Given the description of an element on the screen output the (x, y) to click on. 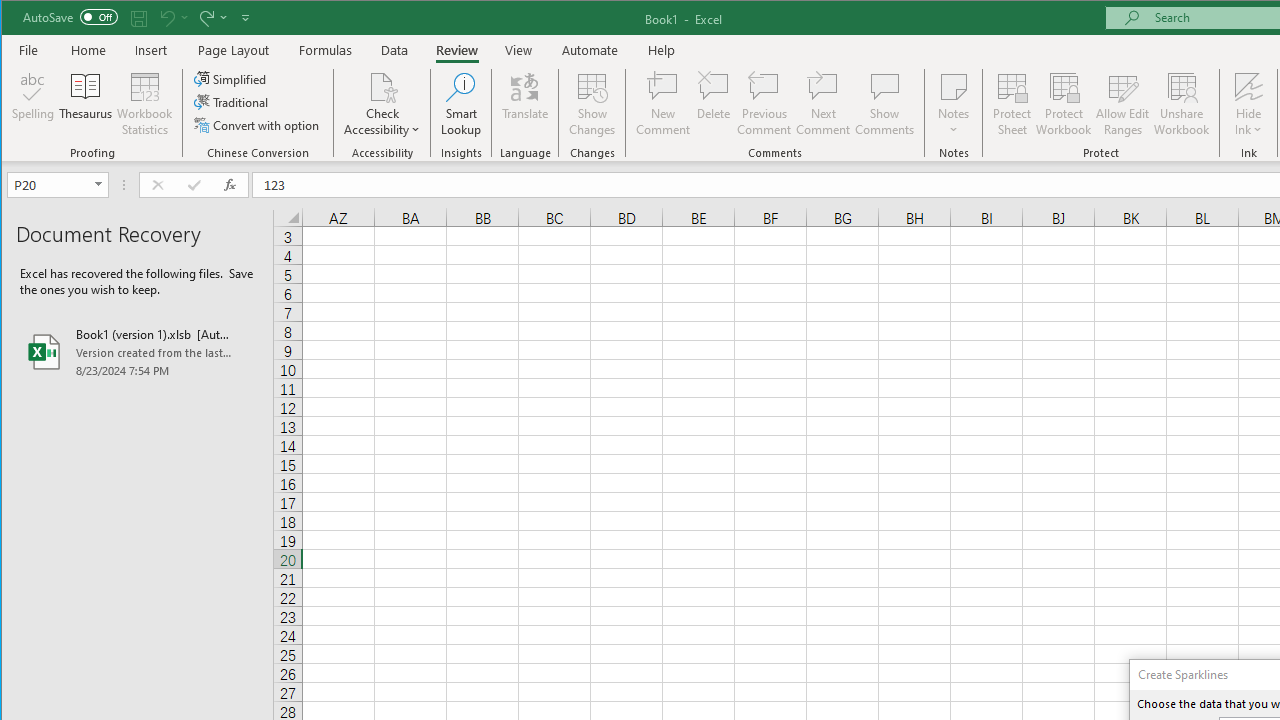
New Comment (662, 104)
Smart Lookup (461, 104)
Next Comment (822, 104)
Spelling... (33, 104)
Unshare Workbook (1182, 104)
Previous Comment (763, 104)
Simplified (231, 78)
